Given the description of an element on the screen output the (x, y) to click on. 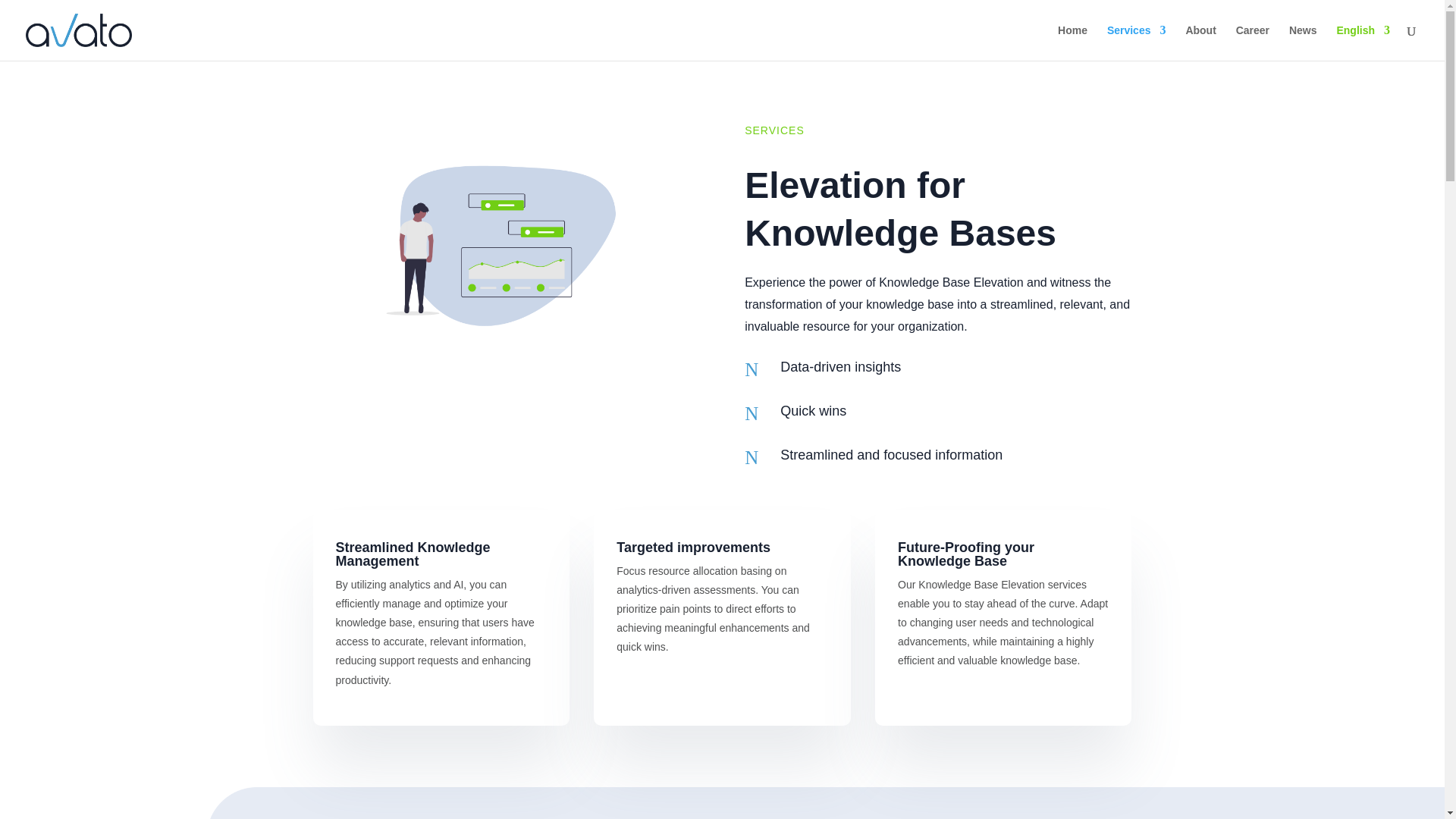
Services (1136, 42)
Career (1252, 42)
English (1363, 42)
Elevation1 (505, 260)
English (1363, 42)
